Given the description of an element on the screen output the (x, y) to click on. 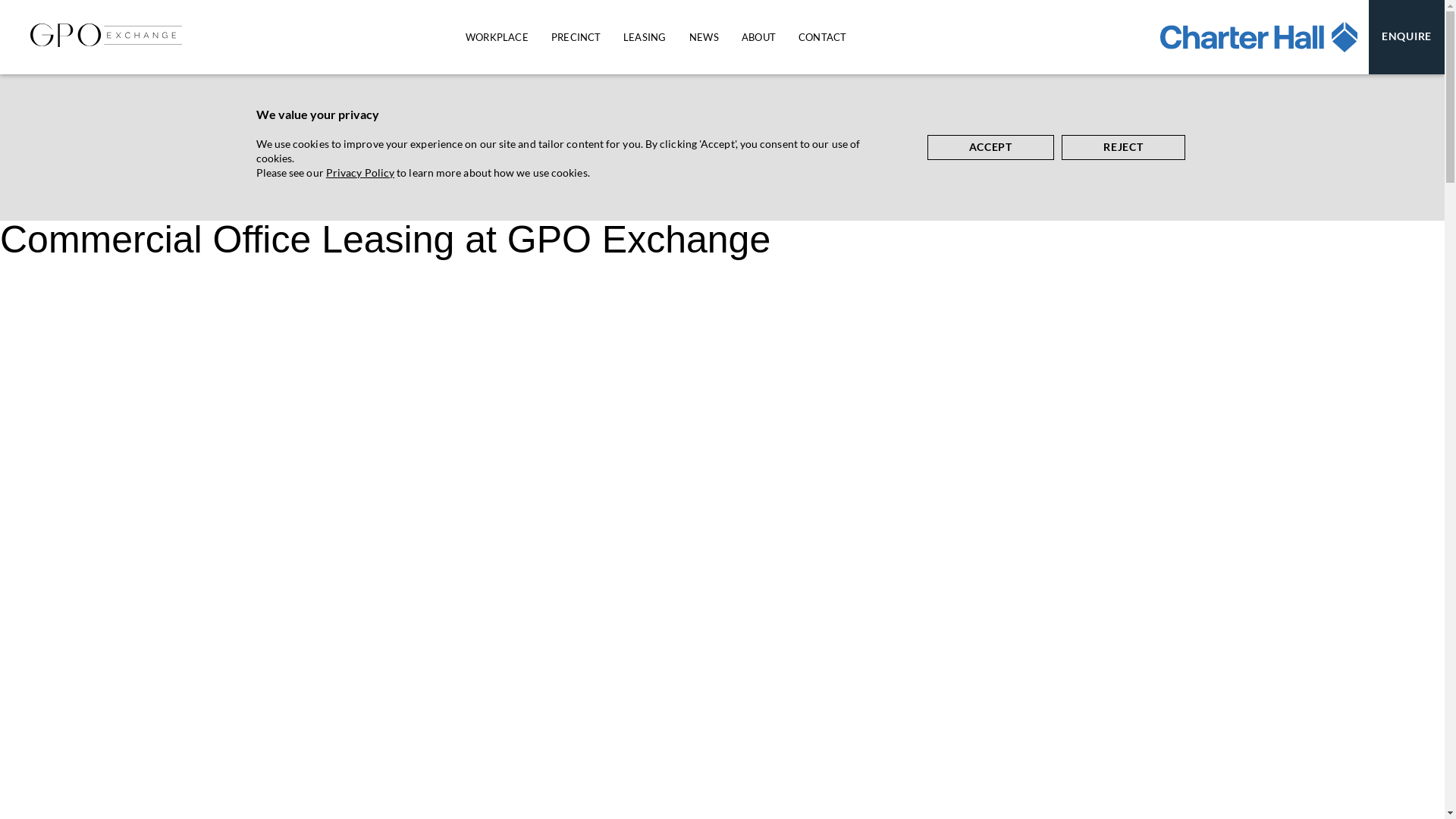
CONTACT Element type: text (822, 37)
PRECINCT Element type: text (575, 37)
REJECT Element type: text (1123, 147)
LEASING Element type: text (644, 37)
ABOUT Element type: text (758, 37)
WORKPLACE Element type: text (496, 37)
Privacy Policy Element type: text (360, 172)
ACCEPT Element type: text (990, 147)
NEWS Element type: text (703, 37)
